Given the description of an element on the screen output the (x, y) to click on. 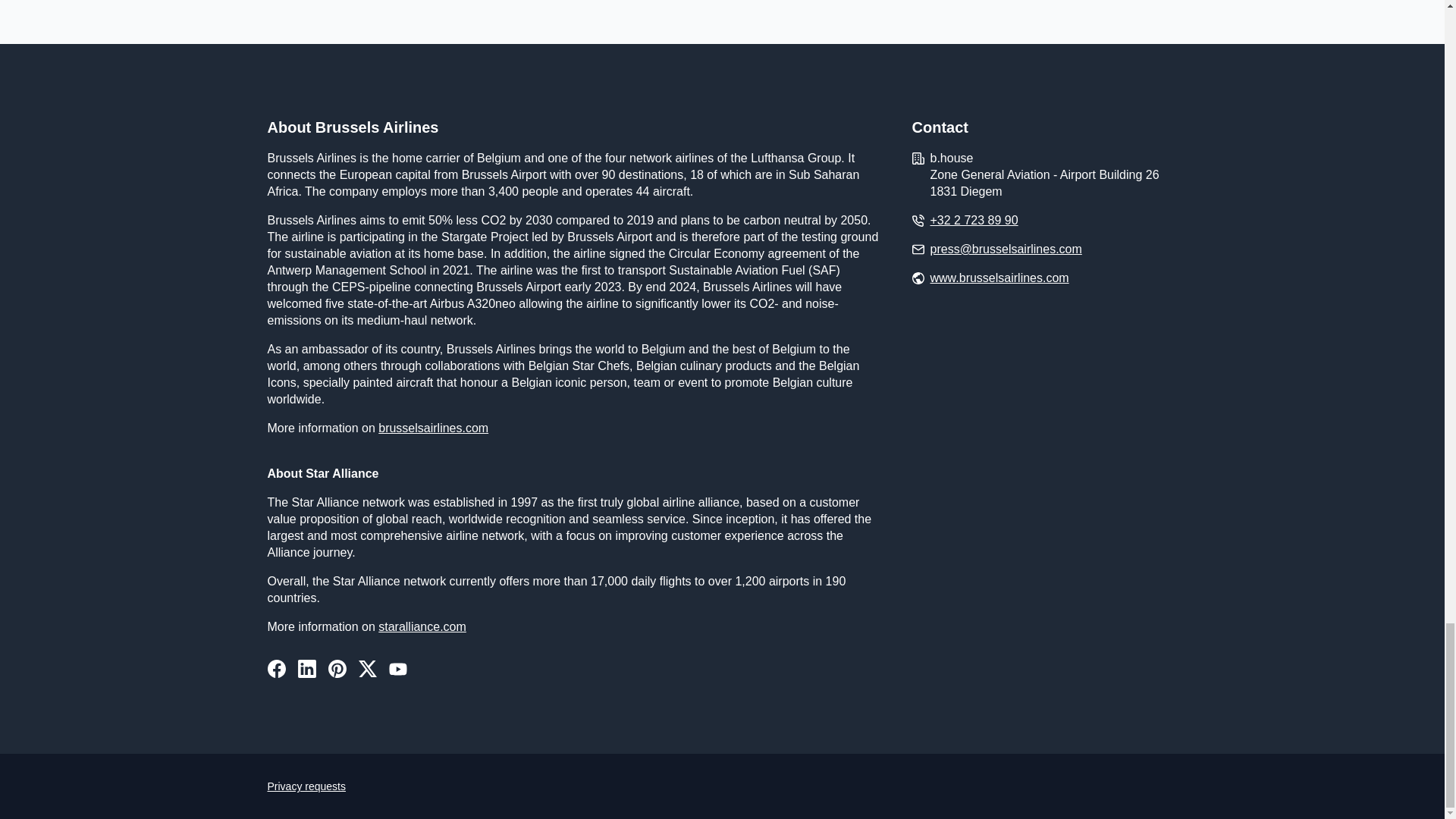
staralliance.com (421, 626)
www.brusselsairlines.com (999, 278)
brusselsairlines.com (432, 427)
Privacy requests (305, 786)
